Given the description of an element on the screen output the (x, y) to click on. 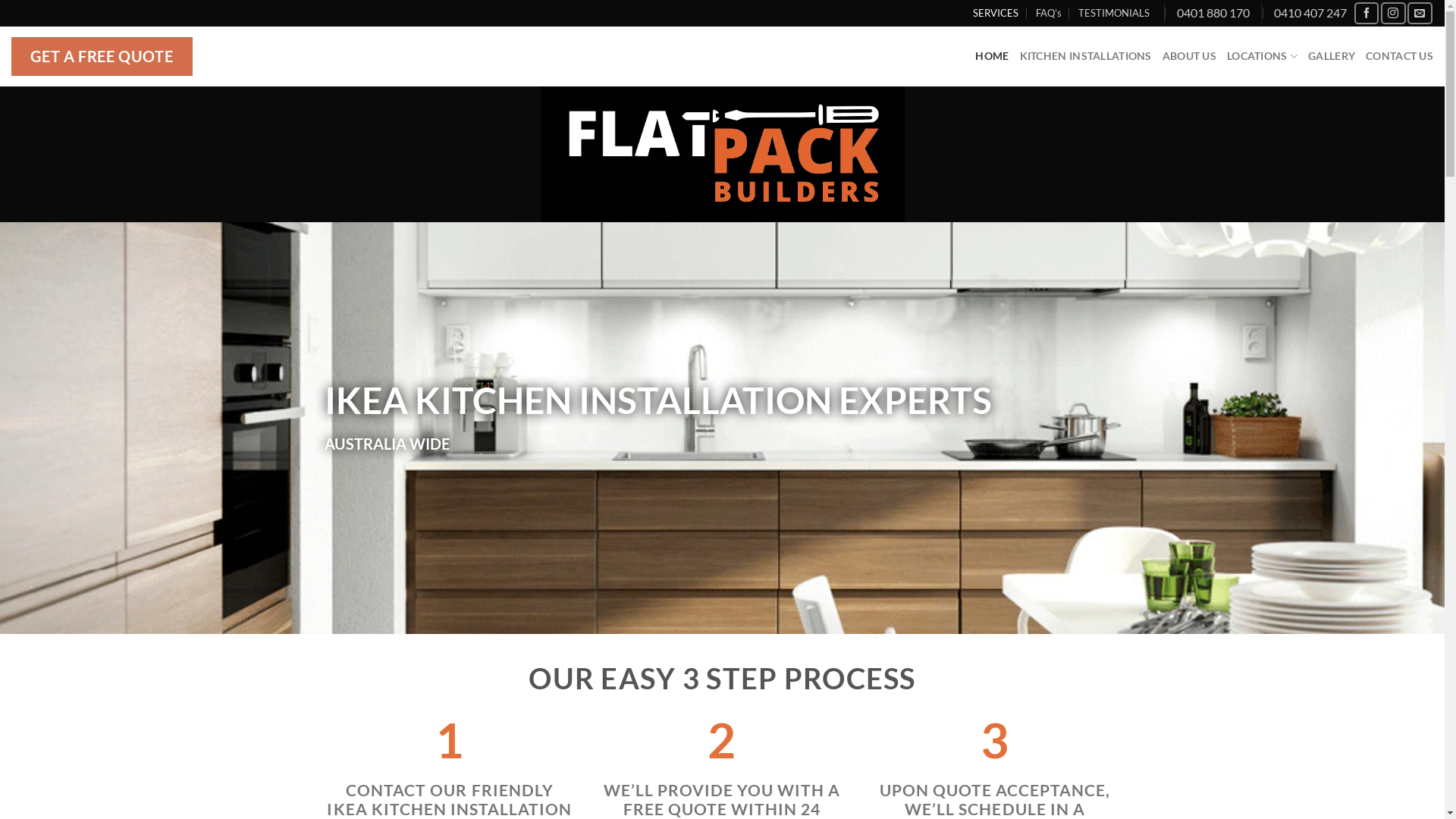
TESTIMONIALS Element type: text (1113, 12)
HOME Element type: text (991, 55)
LOCATIONS Element type: text (1261, 56)
GET A FREE QUOTE Element type: text (101, 56)
KITCHEN INSTALLATIONS Element type: text (1085, 55)
ABOUT US Element type: text (1189, 55)
SERVICES Element type: text (995, 12)
0410 407 247 Element type: text (1310, 13)
GALLERY Element type: text (1331, 55)
CONTACT US Element type: text (1399, 55)
Skip to content Element type: text (0, 0)
0401 880 170 Element type: text (1212, 13)
